Given the description of an element on the screen output the (x, y) to click on. 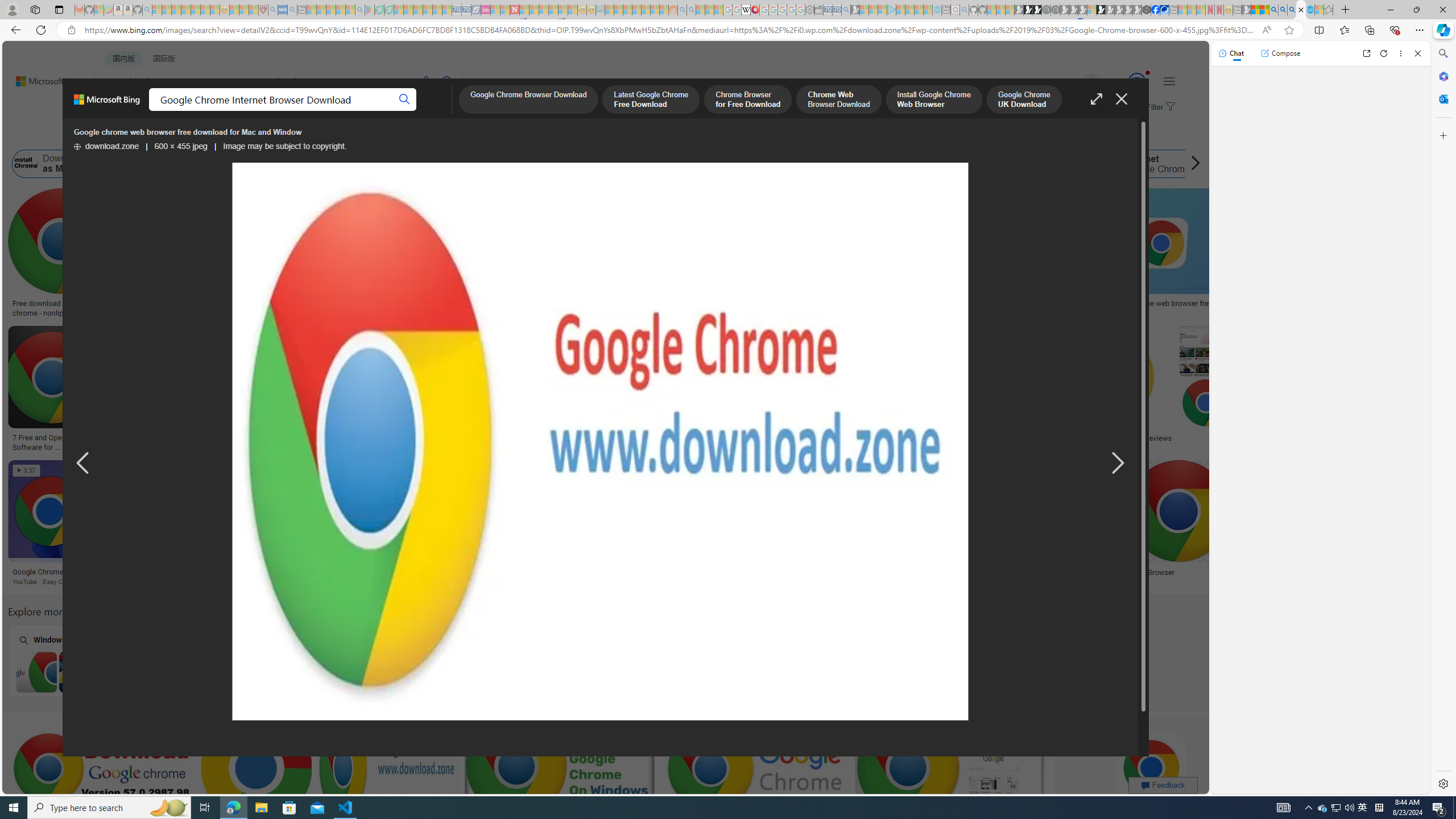
Download internet explorer 9.0 free - snorobotSave (467, 524)
Lambang Chrome (848, 571)
Download video online chrome - hresadish (188, 307)
Chrome Browser Download Windows 10 64-Bit Windows 10 64-Bit (370, 660)
AirNow.gov (1163, 9)
Scroll right (1192, 163)
Nordace - Cooler Bags (1146, 9)
7 Free and Open Source Software for Windows PC | HubPages (51, 441)
Lambang Chrome (776, 571)
Chrome Browser Download Apk for PC Windows 10 (661, 671)
